Given the description of an element on the screen output the (x, y) to click on. 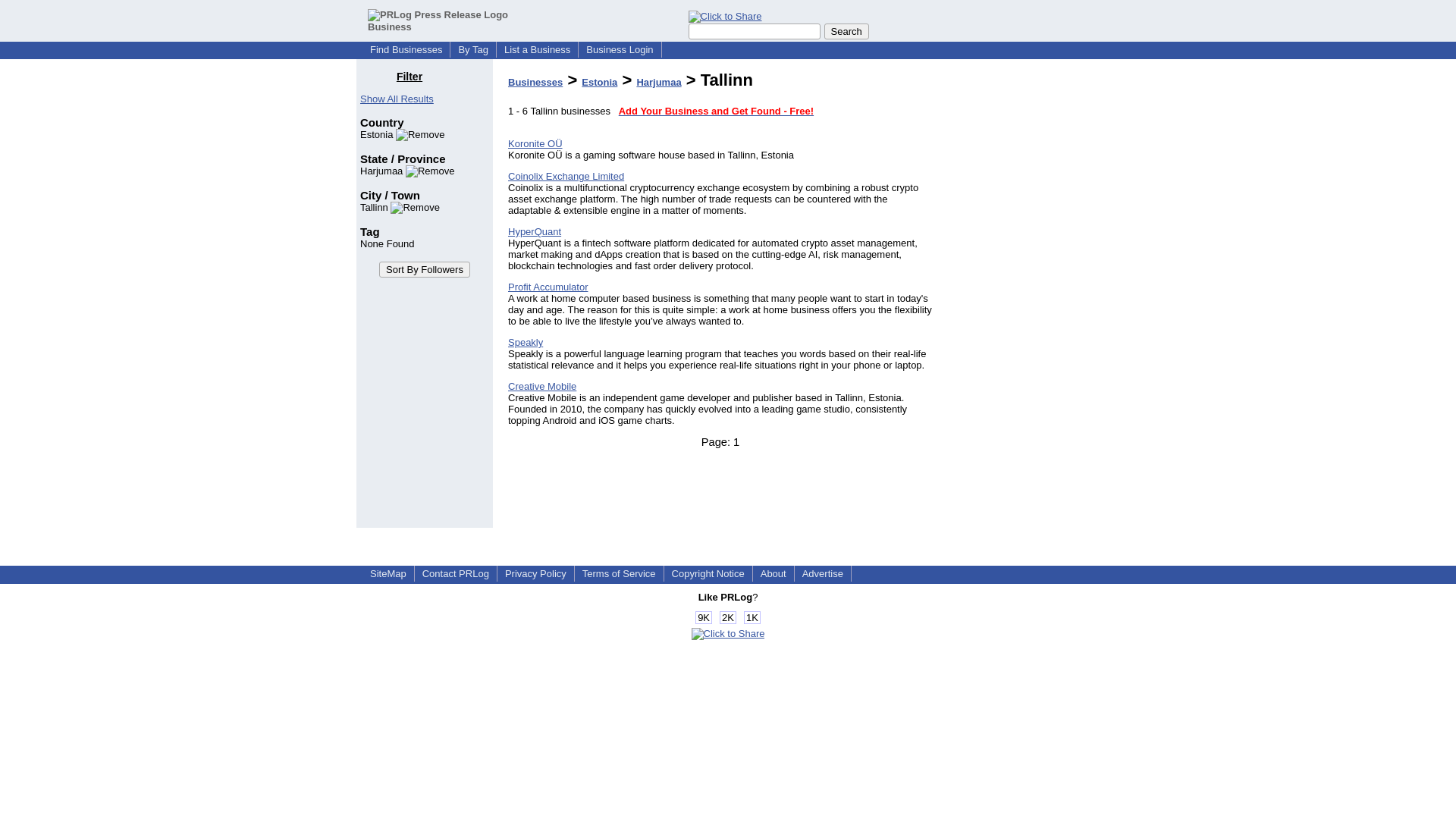
Speakly (525, 342)
Sort By Followers (424, 269)
HyperQuant (534, 231)
Business Login (619, 49)
Click to see the index with all filters cleared (396, 98)
Terms of Service (619, 573)
Profit Accumulator (548, 286)
Contact PRLog (455, 573)
Share this page! (728, 633)
Businesses (535, 81)
